Given the description of an element on the screen output the (x, y) to click on. 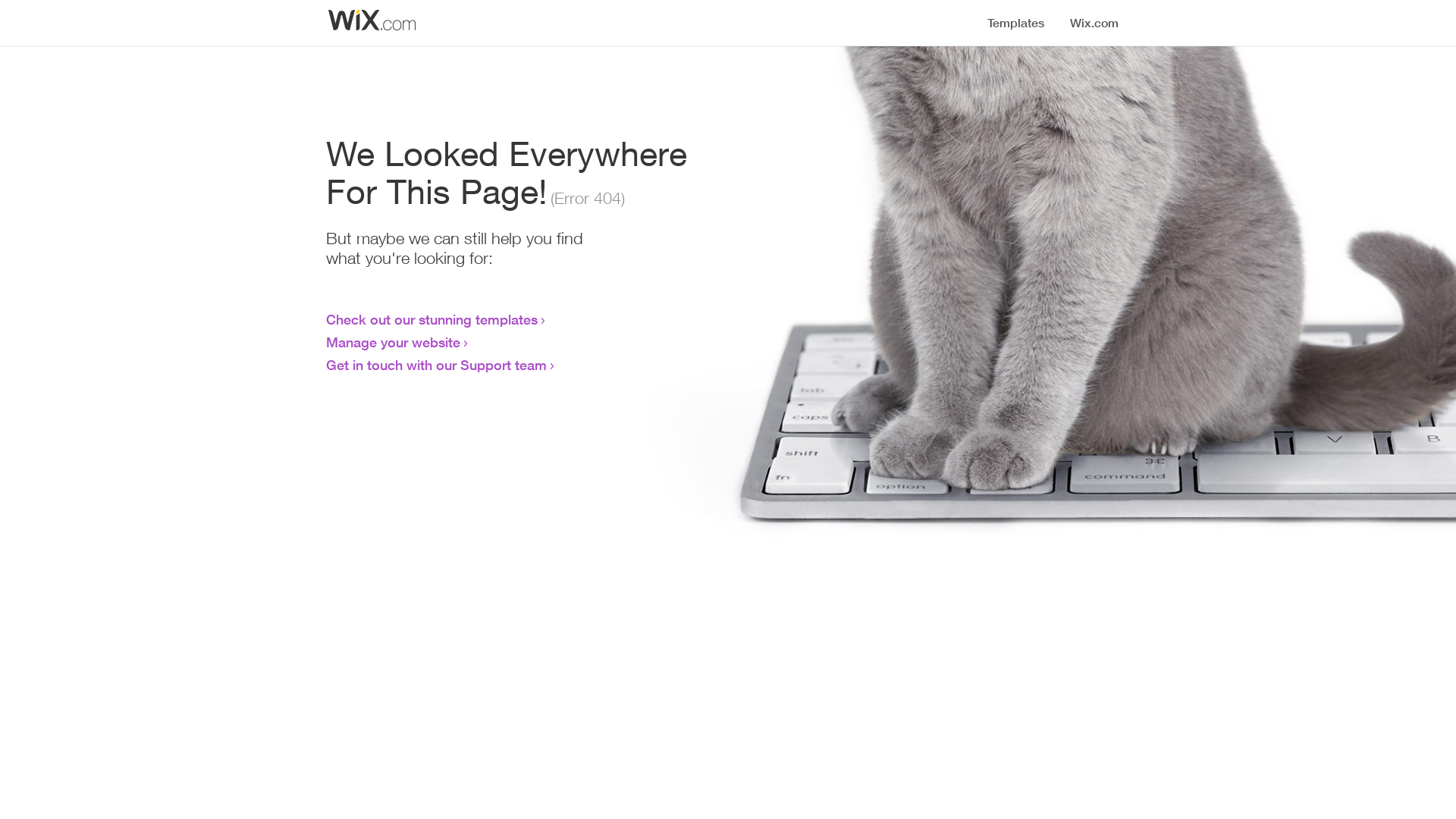
Get in touch with our Support team Element type: text (436, 364)
Check out our stunning templates Element type: text (431, 318)
Manage your website Element type: text (393, 341)
